Given the description of an element on the screen output the (x, y) to click on. 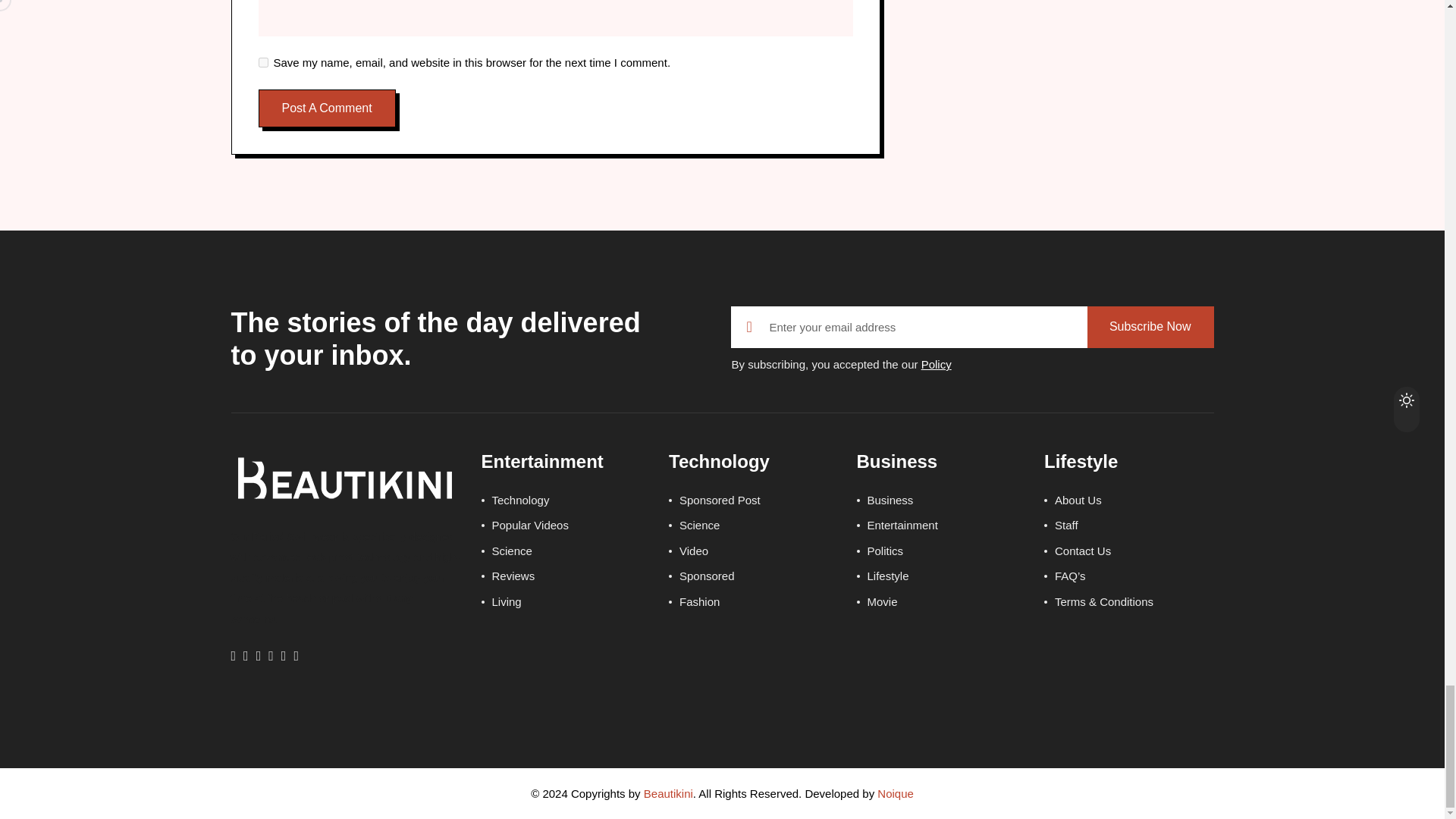
Post a Comment (325, 108)
yes (262, 62)
